Given the description of an element on the screen output the (x, y) to click on. 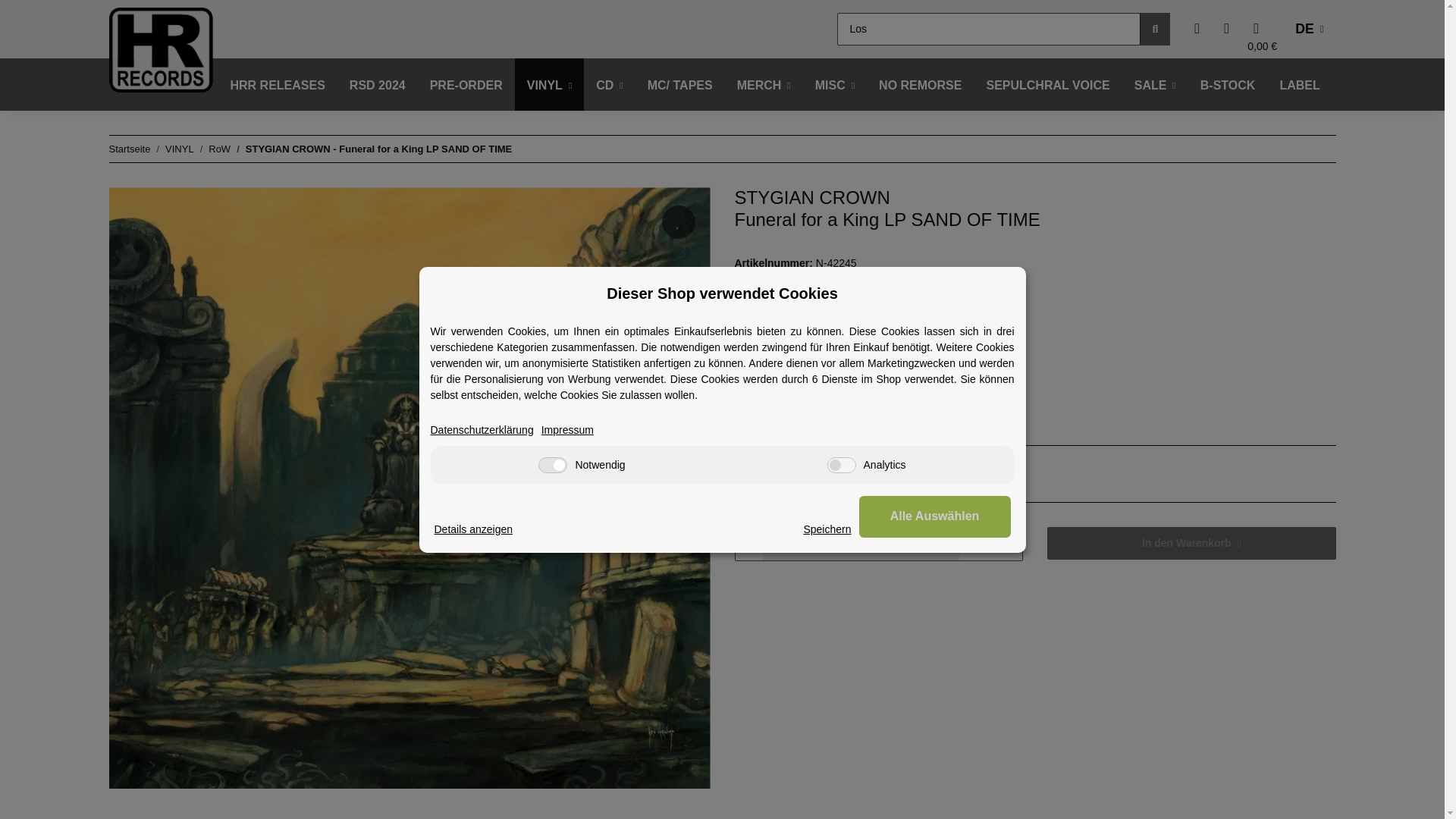
HRR RELEASES (277, 85)
High Roller Records - OnlineShop (160, 49)
NO REMORSE (920, 85)
RSD 2024 (377, 85)
RSD 2024 (377, 85)
VINYL (550, 85)
CD (608, 85)
on (841, 464)
HRR RELEASES (277, 85)
DE (1308, 28)
1 (860, 543)
SALE (1155, 85)
PRE-ORDER (466, 85)
MERCH (764, 85)
SEPULCHRAL VOICE (1047, 85)
